Given the description of an element on the screen output the (x, y) to click on. 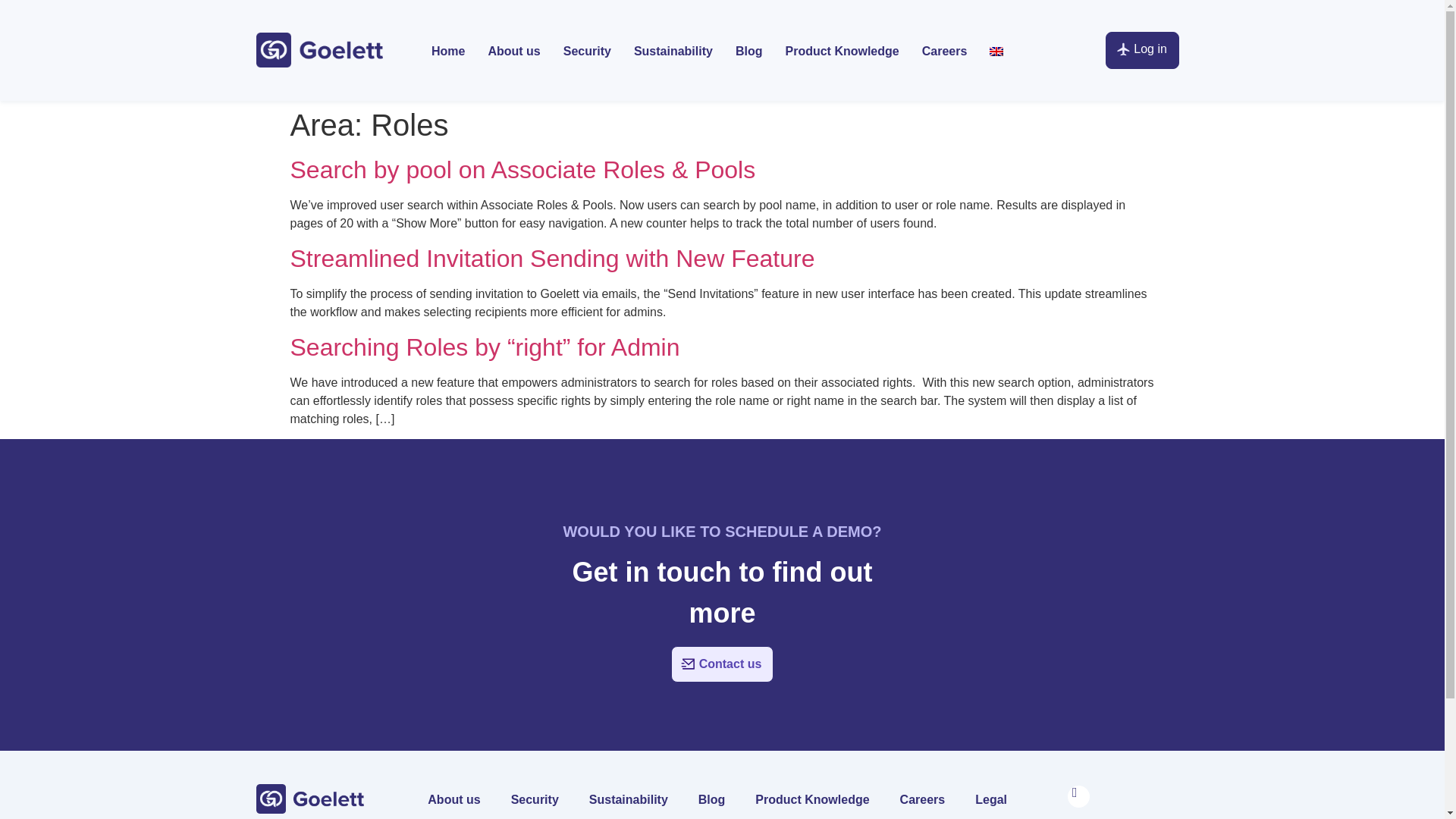
About us (513, 51)
Sustainability (673, 51)
Careers (944, 51)
Blog (748, 51)
Security (587, 51)
Product Knowledge (841, 51)
Home (448, 51)
